Given the description of an element on the screen output the (x, y) to click on. 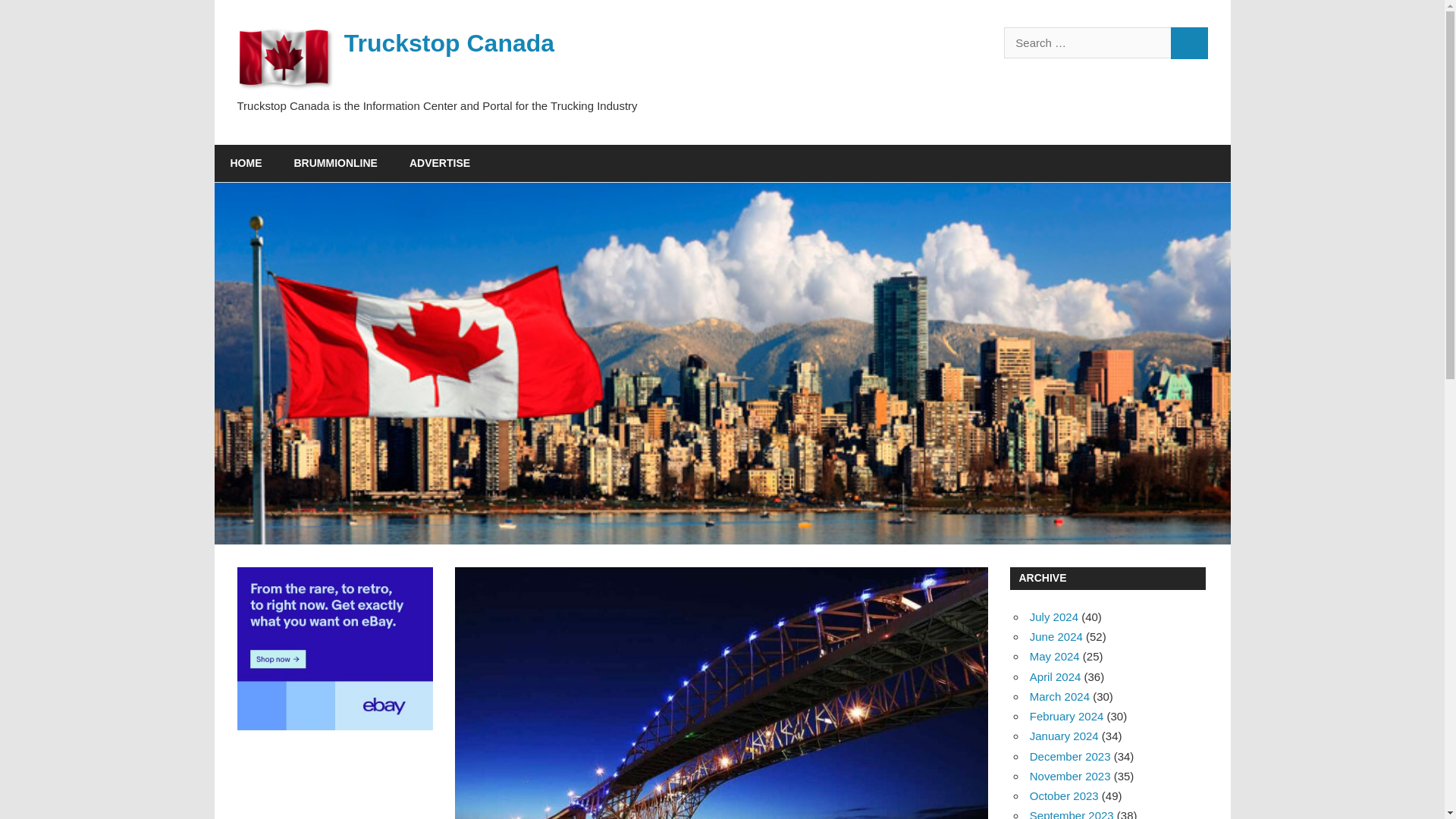
September 2023 (1071, 814)
HOME (246, 163)
Search for: (1088, 42)
October 2023 (1064, 795)
February 2024 (1066, 716)
November 2023 (1069, 775)
July 2024 (1053, 616)
ADVERTISE (439, 163)
BRUMMIONLINE (335, 163)
January 2024 (1064, 735)
December 2023 (1069, 756)
June 2024 (1056, 635)
Truckstop Canada (448, 42)
April 2024 (1055, 676)
